Given the description of an element on the screen output the (x, y) to click on. 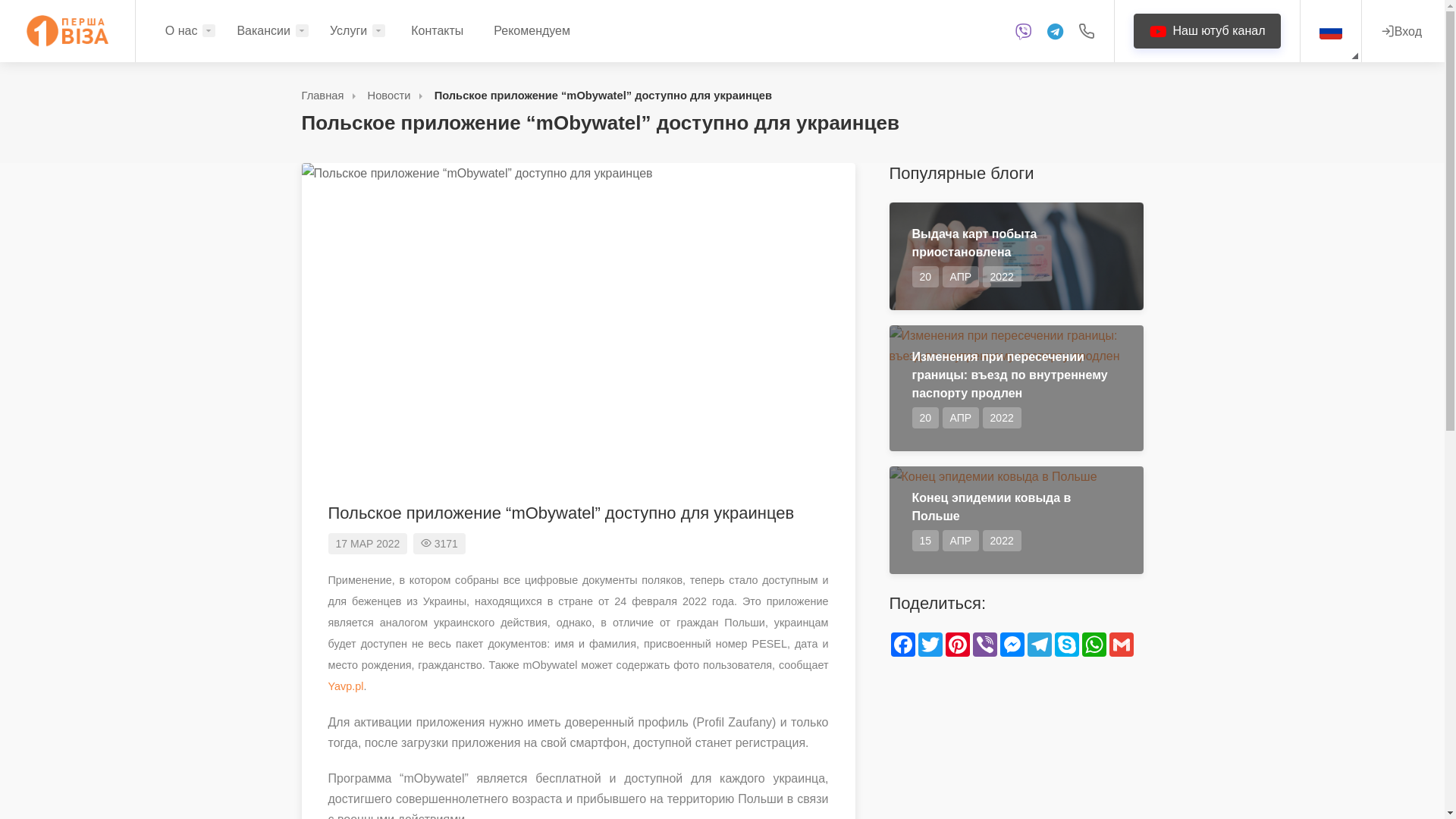
Twitter Element type: text (929, 644)
Gmail Element type: text (1120, 644)
WhatsApp Element type: text (1093, 644)
Facebook Element type: text (902, 644)
Skype Element type: text (1065, 644)
Telegram Element type: text (1038, 644)
Viber Element type: text (983, 644)
Messenger Element type: text (1011, 644)
3171 Element type: text (439, 543)
Pinterest Element type: text (956, 644)
Yavp.pl Element type: text (345, 686)
